Given the description of an element on the screen output the (x, y) to click on. 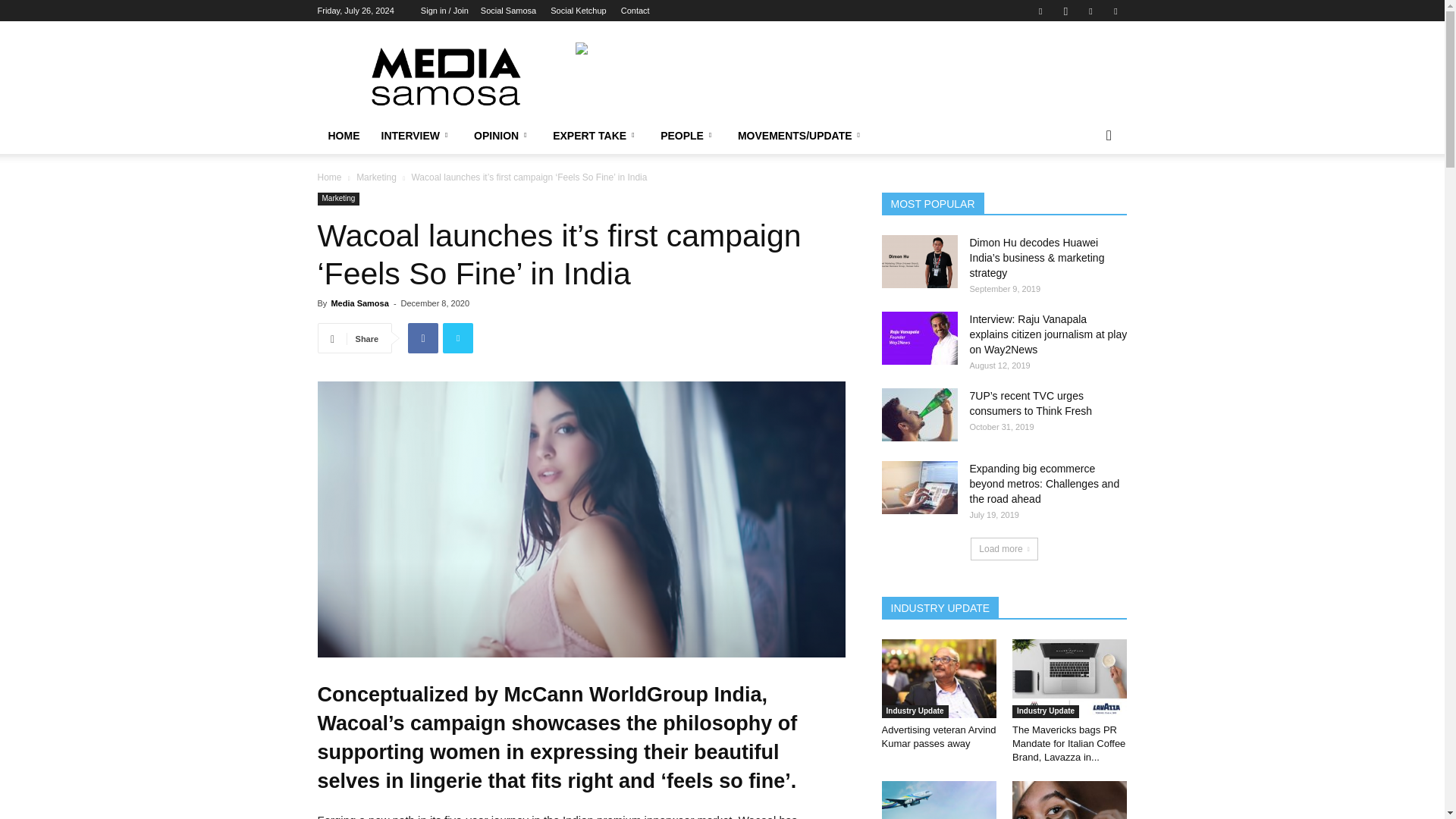
Twitter (1114, 10)
Linkedin (1090, 10)
Instagram (1065, 10)
Social Samosa (507, 10)
Media Samosa (445, 76)
HOME (343, 135)
Social Ketchup (577, 10)
Facebook (1040, 10)
Contact (635, 10)
INTERVIEW (416, 135)
